Given the description of an element on the screen output the (x, y) to click on. 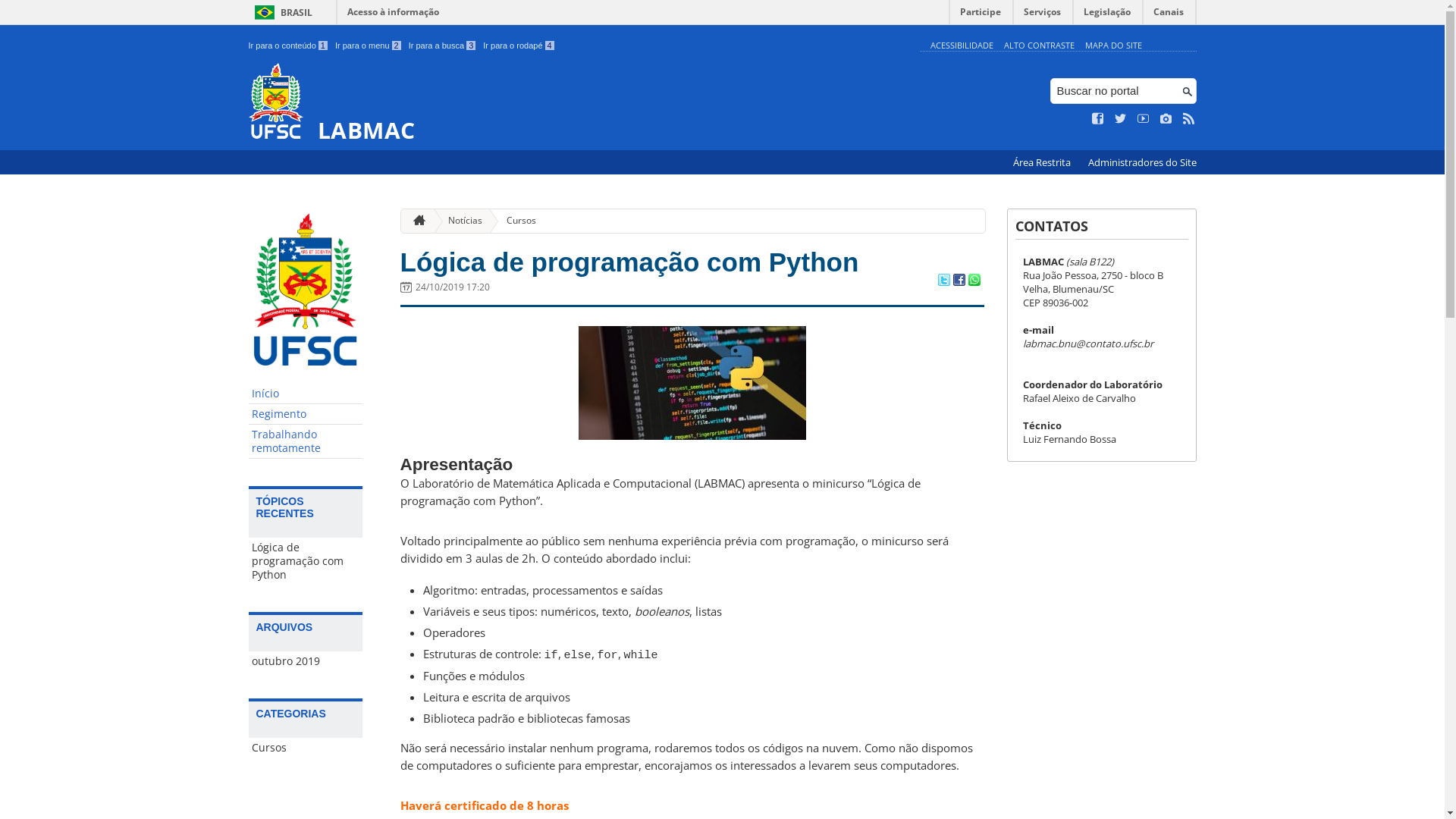
Compartilhar no WhatsApp Element type: hover (973, 280)
Curta no Facebook Element type: hover (1098, 118)
Trabalhando remotamente Element type: text (305, 441)
ACESSIBILIDADE Element type: text (960, 44)
Cursos Element type: text (305, 747)
Cursos Element type: text (515, 220)
LABMAC Element type: text (580, 102)
Ir para o menu 2 Element type: text (368, 45)
ALTO CONTRASTE Element type: text (1039, 44)
Canais Element type: text (1169, 15)
outubro 2019 Element type: text (305, 661)
Veja no Instagram Element type: hover (1166, 118)
Participe Element type: text (980, 15)
Compartilhar no Twitter Element type: hover (943, 280)
Regimento Element type: text (305, 414)
MAPA DO SITE Element type: text (1112, 44)
Compartilhar no Facebook Element type: hover (958, 280)
Siga no Twitter Element type: hover (1120, 118)
Ir para a busca 3 Element type: text (442, 45)
Administradores do Site Element type: text (1141, 162)
BRASIL Element type: text (280, 12)
